Given the description of an element on the screen output the (x, y) to click on. 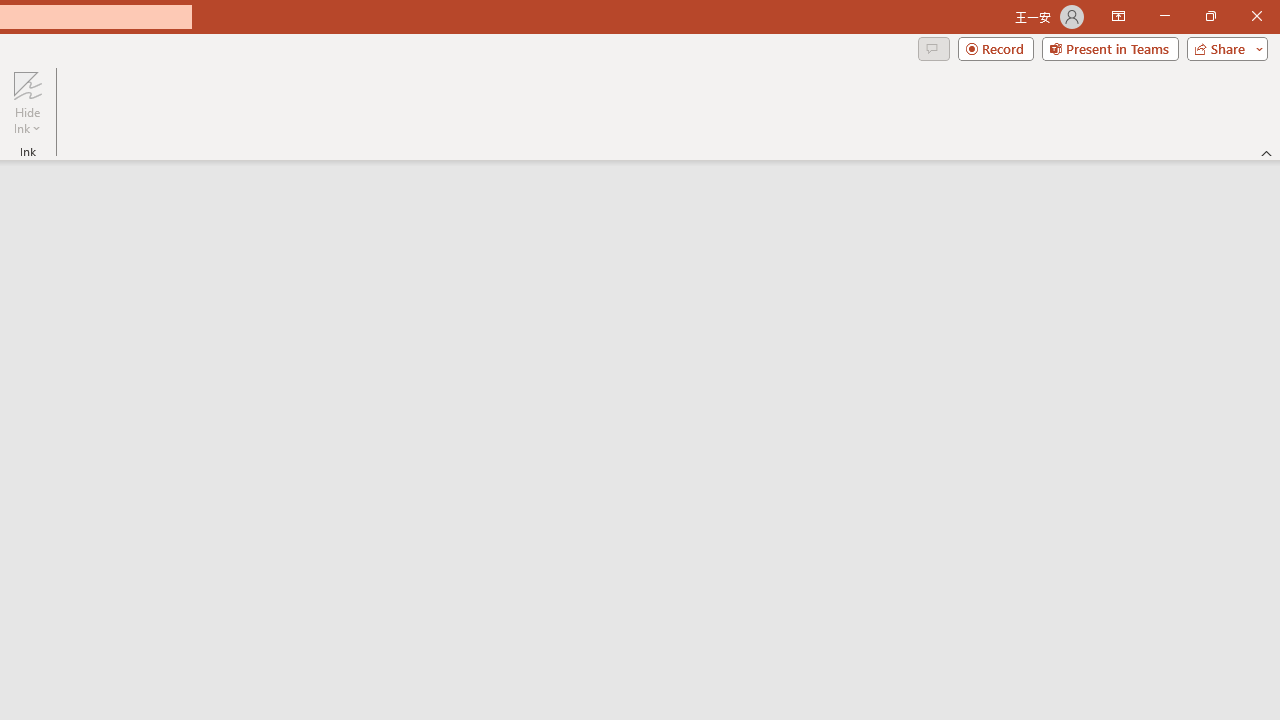
Record (995, 48)
Close (1256, 16)
Collapse the Ribbon (1267, 152)
Hide Ink (27, 102)
Restore Down (1210, 16)
Present in Teams (1109, 48)
Minimize (1164, 16)
Share (1223, 48)
Ribbon Display Options (1118, 16)
Comments (933, 48)
More Options (27, 121)
Hide Ink (27, 84)
